Given the description of an element on the screen output the (x, y) to click on. 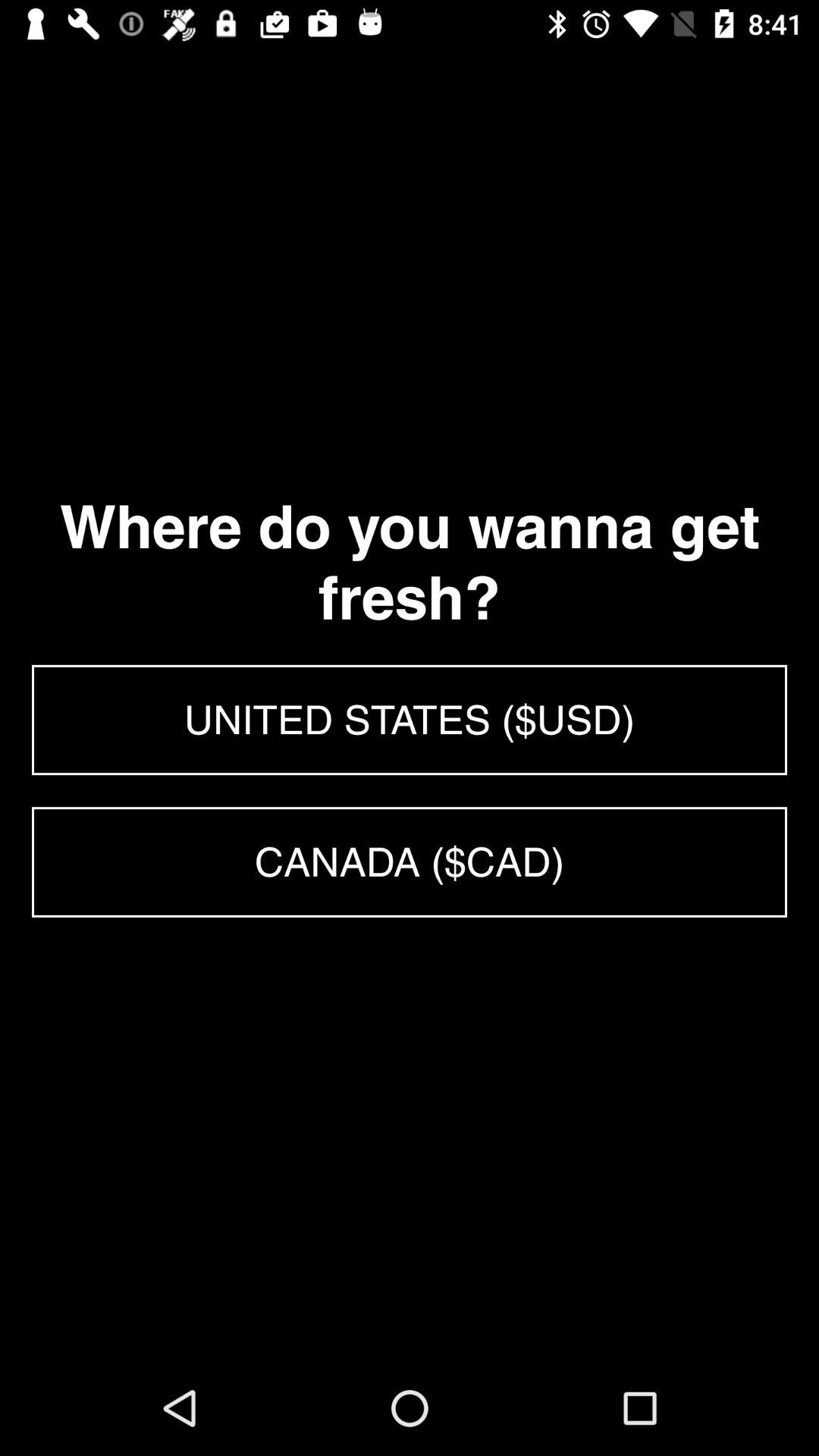
turn on the united states ($usd) item (409, 719)
